Given the description of an element on the screen output the (x, y) to click on. 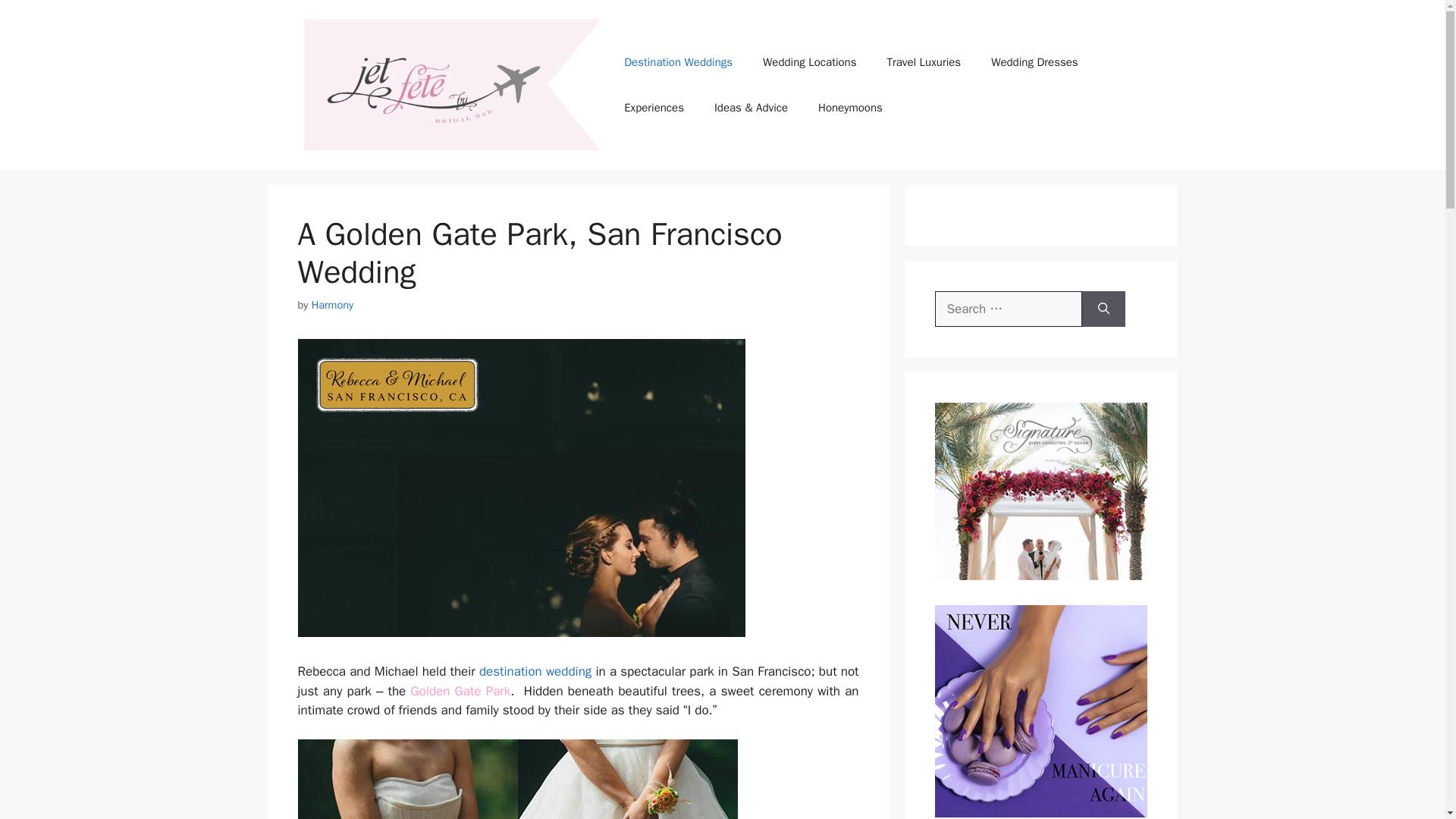
Wedding Locations (809, 62)
Traditional Destination Wedding in Greece (535, 671)
Destination Weddings (678, 62)
Wedding Dresses (1034, 62)
Travel Luxuries (922, 62)
wedding wrist corsage (406, 779)
destination wedding (535, 671)
jonas peterson weddings (520, 488)
Honeymoons (850, 107)
Experiences (653, 107)
